Given the description of an element on the screen output the (x, y) to click on. 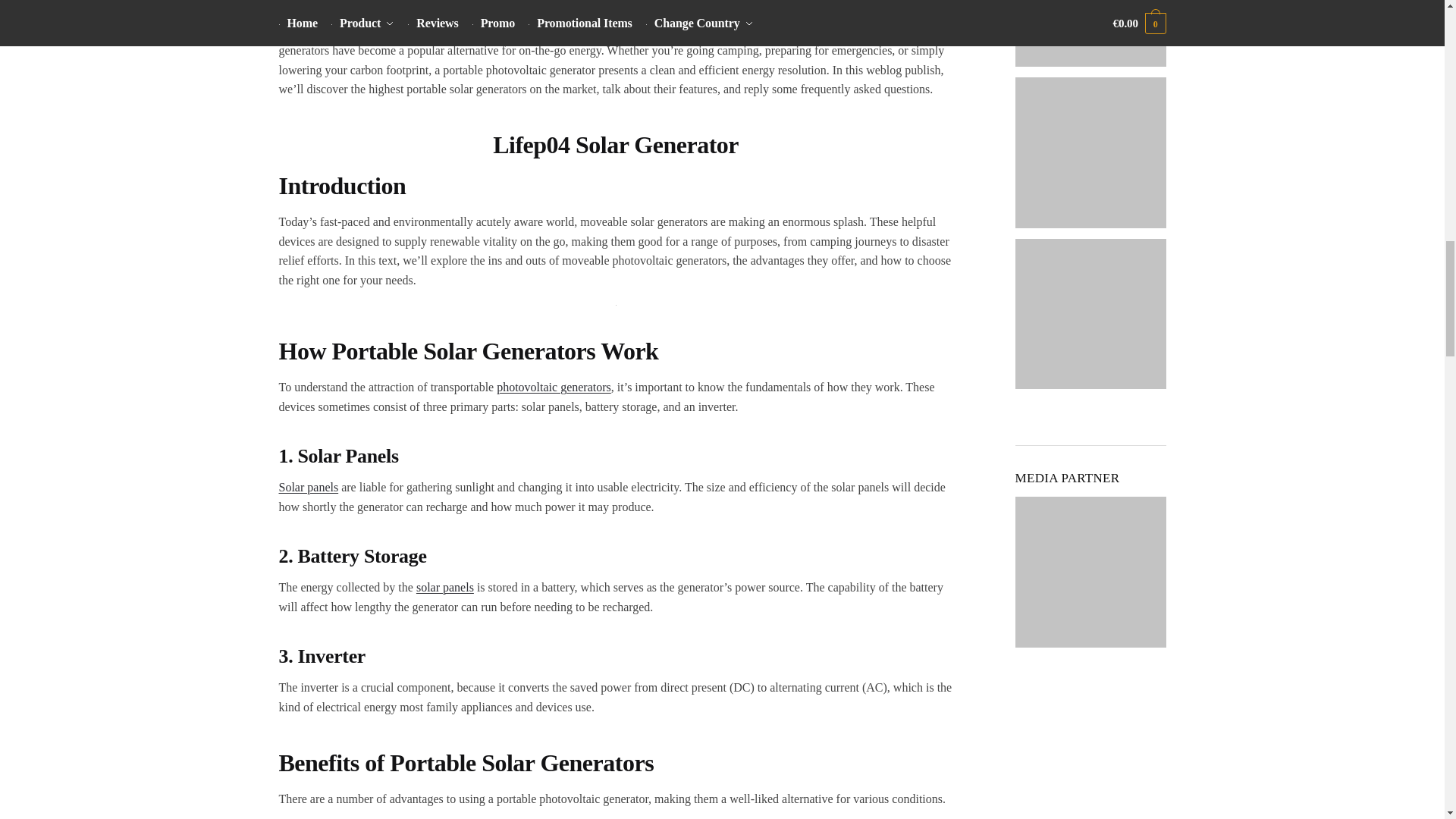
photovoltaic generators (553, 386)
Solar panels (309, 486)
solar panels (445, 586)
